Given the description of an element on the screen output the (x, y) to click on. 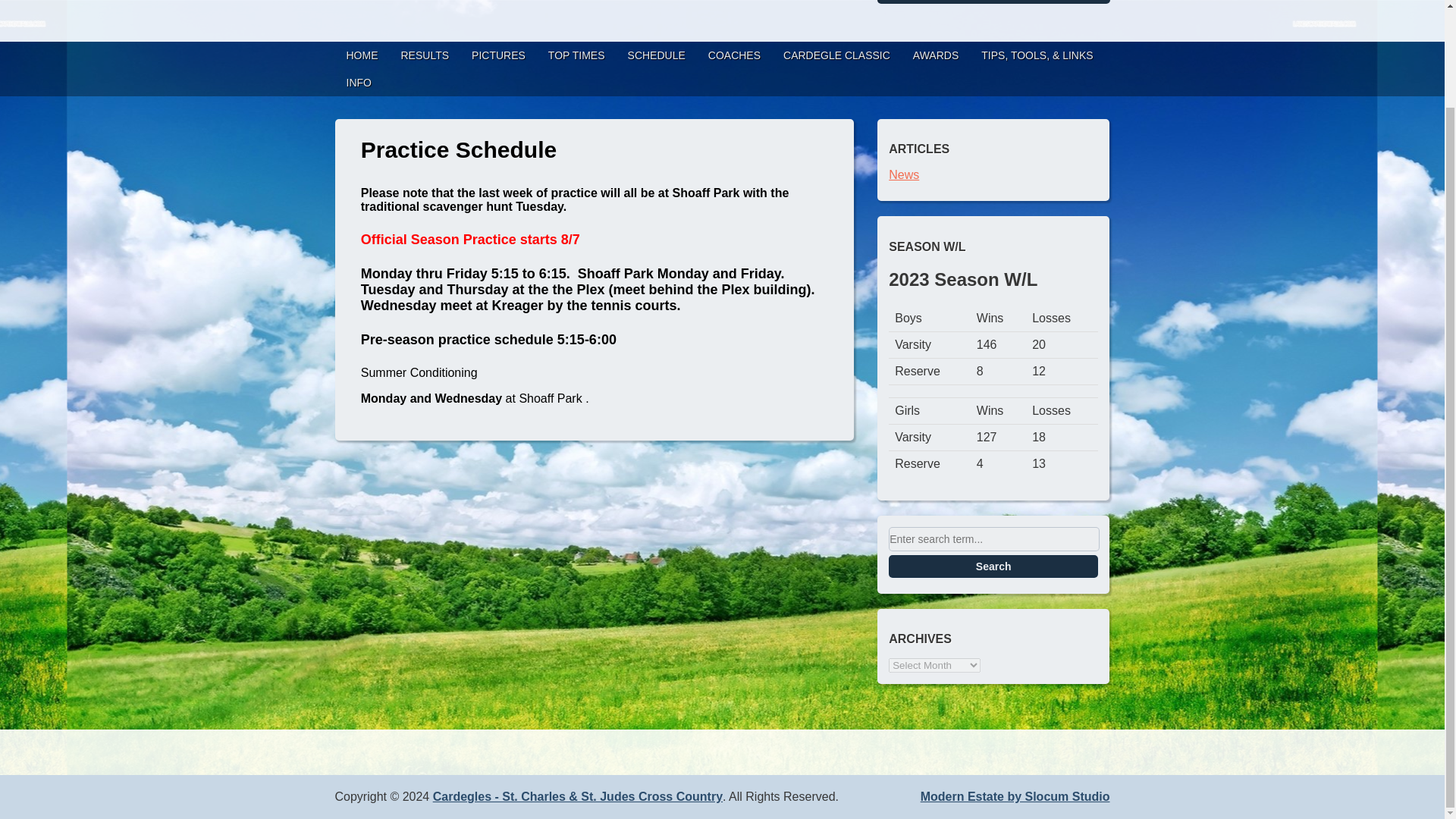
SCHEDULE (656, 54)
AWARDS (935, 54)
Search (992, 566)
PICTURES (498, 54)
Search (992, 566)
TOP TIMES (576, 54)
HOME (362, 54)
CARDEGLE CLASSIC (836, 54)
Modern Estate by Slocum Studio (1014, 796)
COACHES (734, 54)
News (903, 174)
RESULTS (425, 54)
INFO (358, 82)
